Given the description of an element on the screen output the (x, y) to click on. 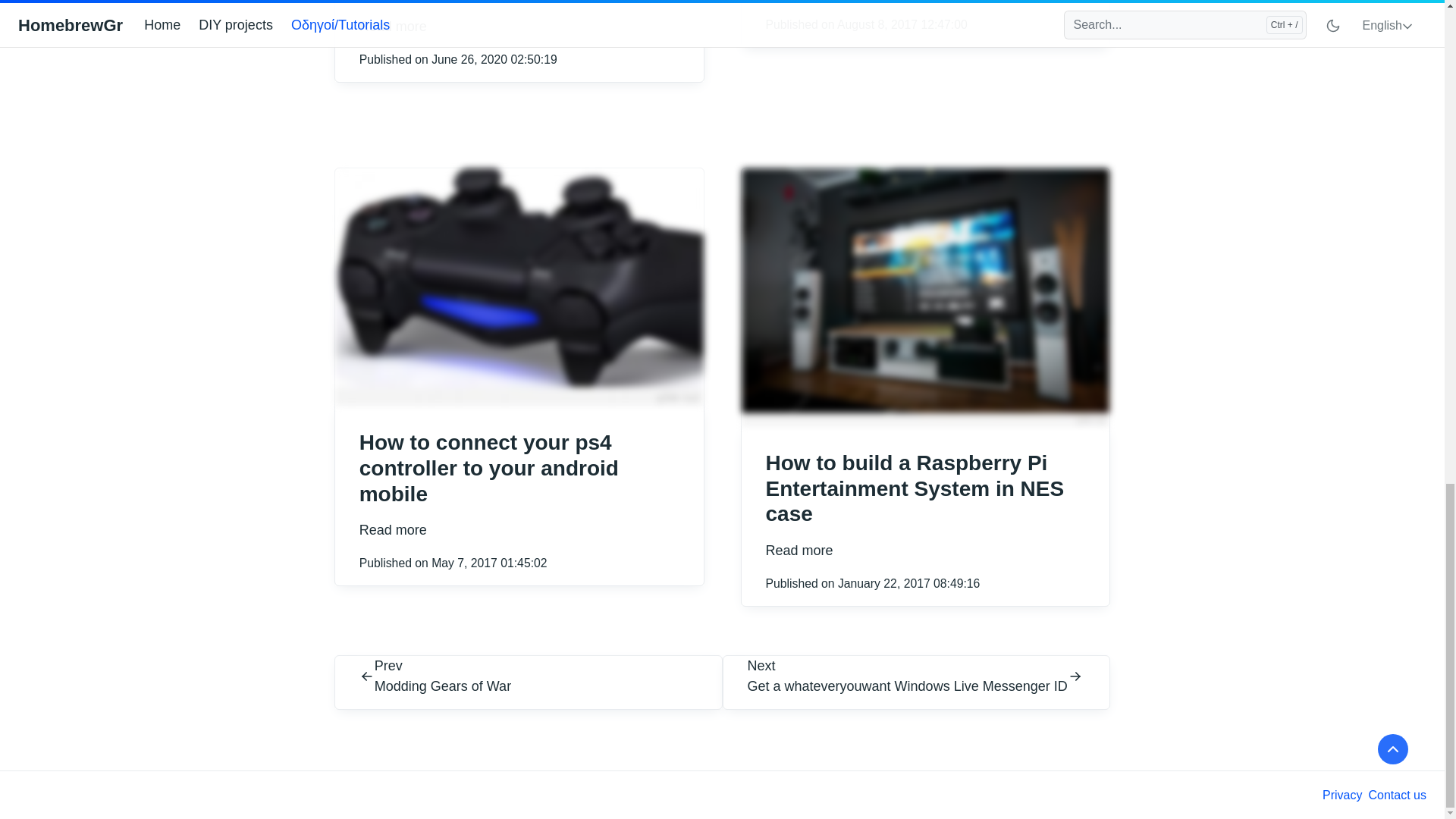
OK (722, 424)
How to connect your ps4 controller to your android mobile (488, 467)
Privacy (1341, 794)
How to build a Raspberry Pi Entertainment System in NES case (914, 488)
Contact us (1397, 794)
Modding Gears of War (442, 686)
Get a whateveryouwant Windows Live Messenger ID (907, 686)
